Given the description of an element on the screen output the (x, y) to click on. 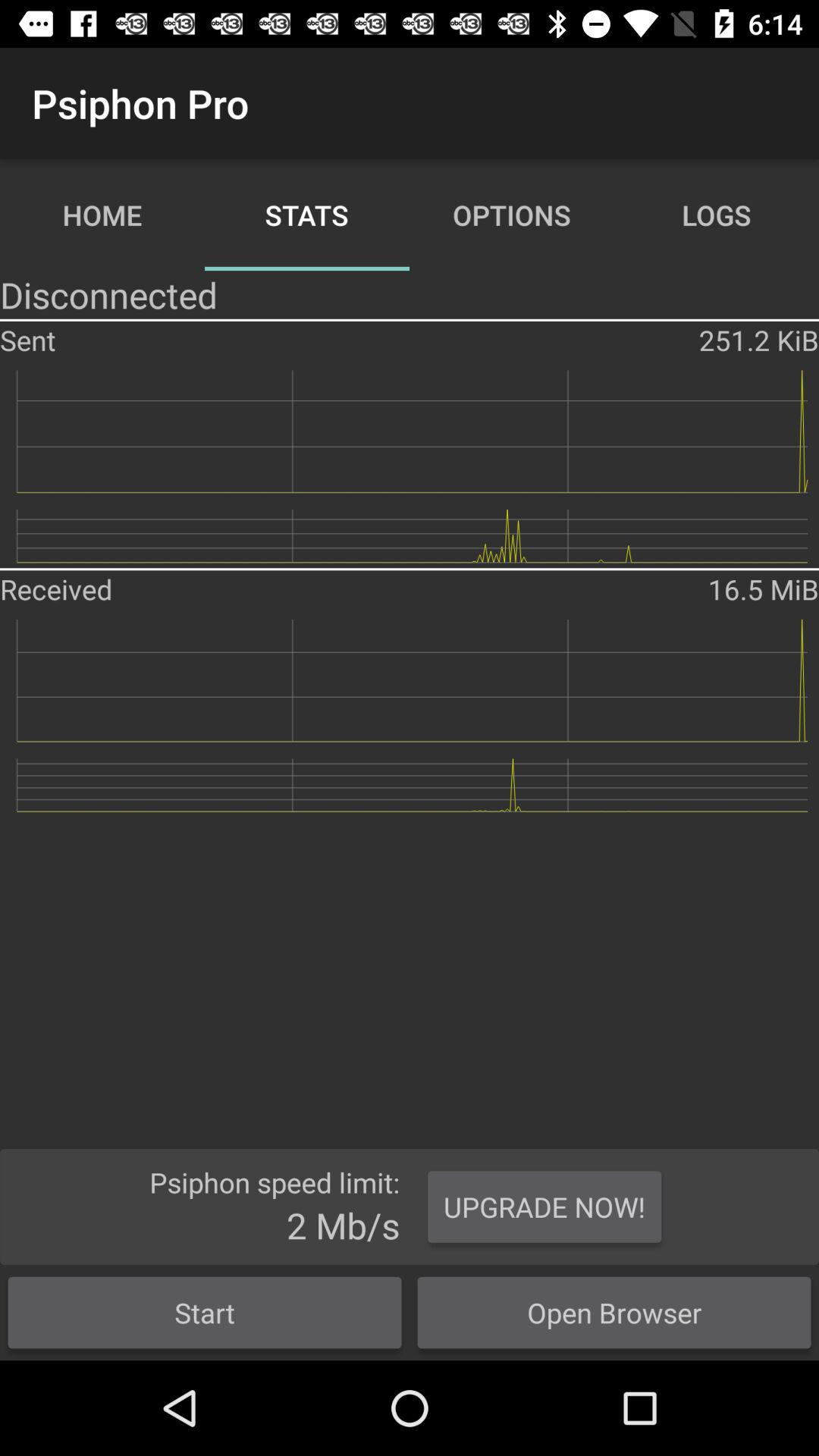
launch upgrade now! icon (544, 1206)
